Given the description of an element on the screen output the (x, y) to click on. 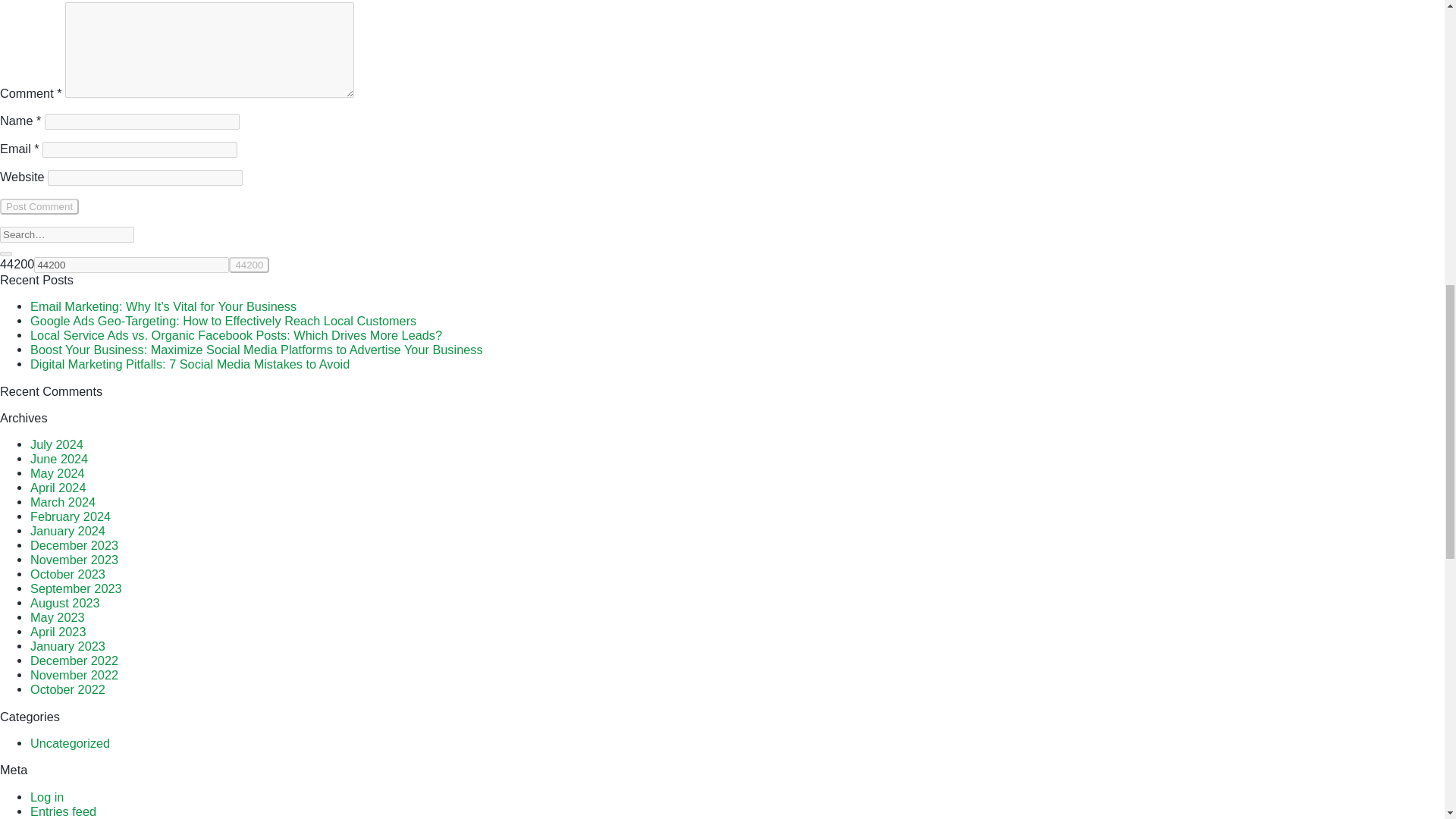
Post Comment (39, 206)
May 2024 (57, 472)
April 2024 (57, 487)
44200 (248, 264)
Digital Marketing Pitfalls: 7 Social Media Mistakes to Avoid (189, 364)
44200 (130, 264)
44200 (130, 264)
July 2024 (56, 444)
January 2024 (67, 530)
44200 (248, 264)
Post Comment (39, 206)
February 2024 (70, 516)
